Given the description of an element on the screen output the (x, y) to click on. 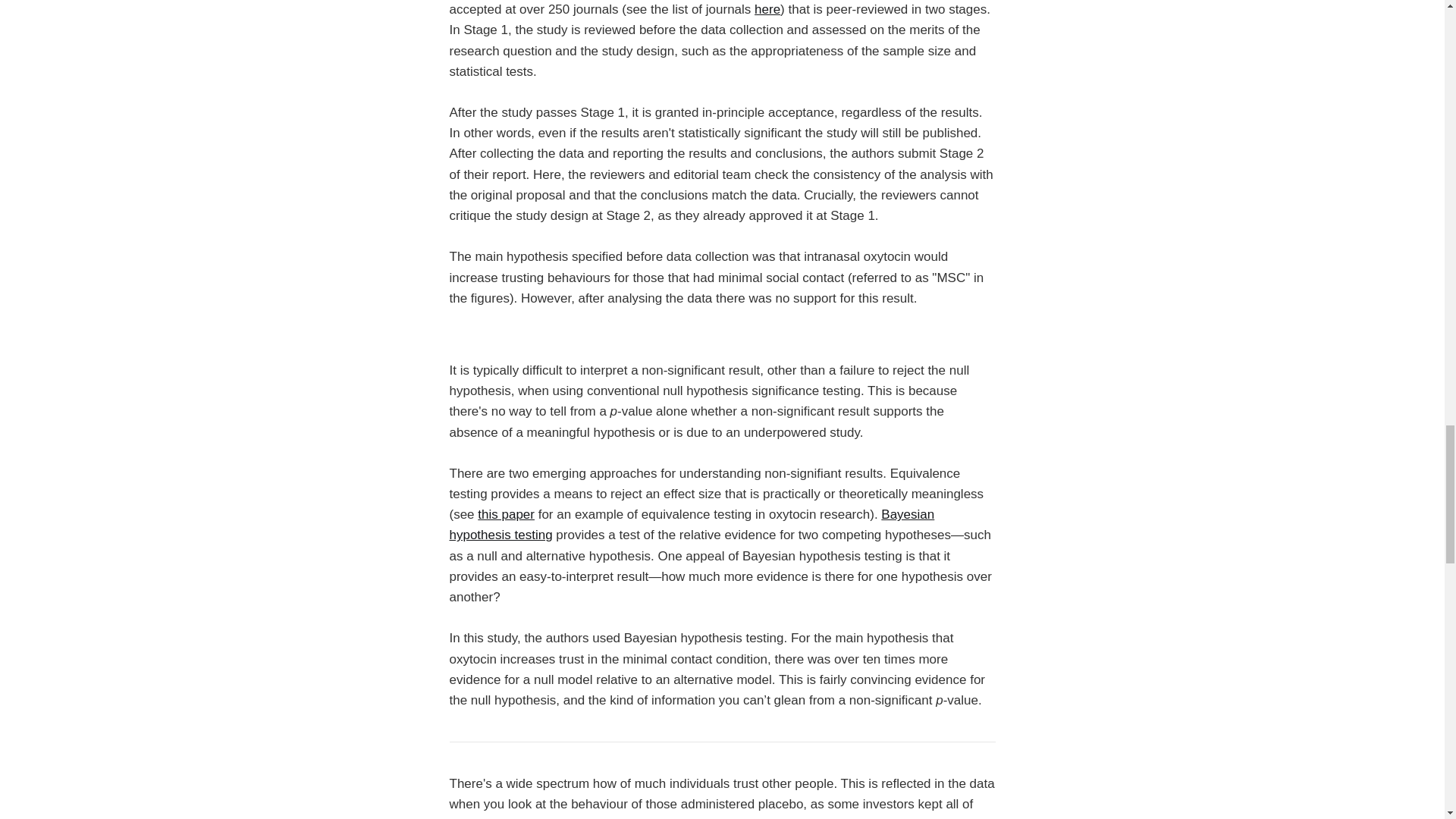
Bayesian hypothesis testing (691, 524)
this paper (505, 513)
here (767, 9)
